Given the description of an element on the screen output the (x, y) to click on. 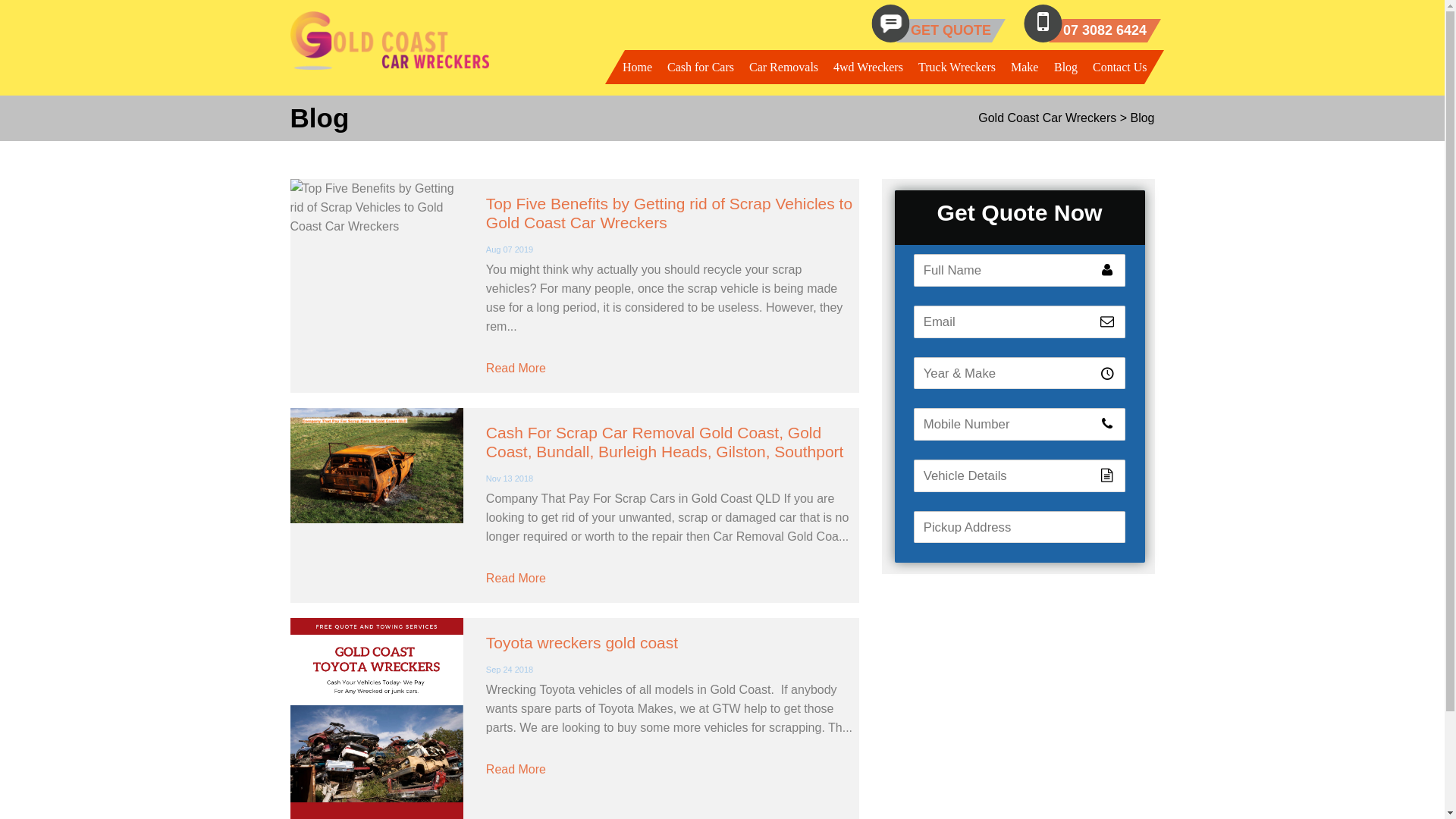
Blog Element type: text (1065, 67)
Read More Element type: text (516, 577)
Toyota wreckers gold coast Element type: text (581, 642)
07 3082 6424 Element type: text (1104, 30)
Contact Us Element type: text (1119, 67)
Truck Wreckers Element type: text (956, 67)
Car Removals Element type: text (783, 67)
4wd Wreckers Element type: text (867, 67)
Gold Coast Car Wreckers Element type: text (1047, 117)
Read More Element type: text (516, 367)
Cash for Cars Element type: text (700, 67)
GET QUOTE Element type: text (950, 30)
Make Element type: text (1024, 67)
Read More Element type: text (516, 768)
Home Element type: text (637, 67)
